Given the description of an element on the screen output the (x, y) to click on. 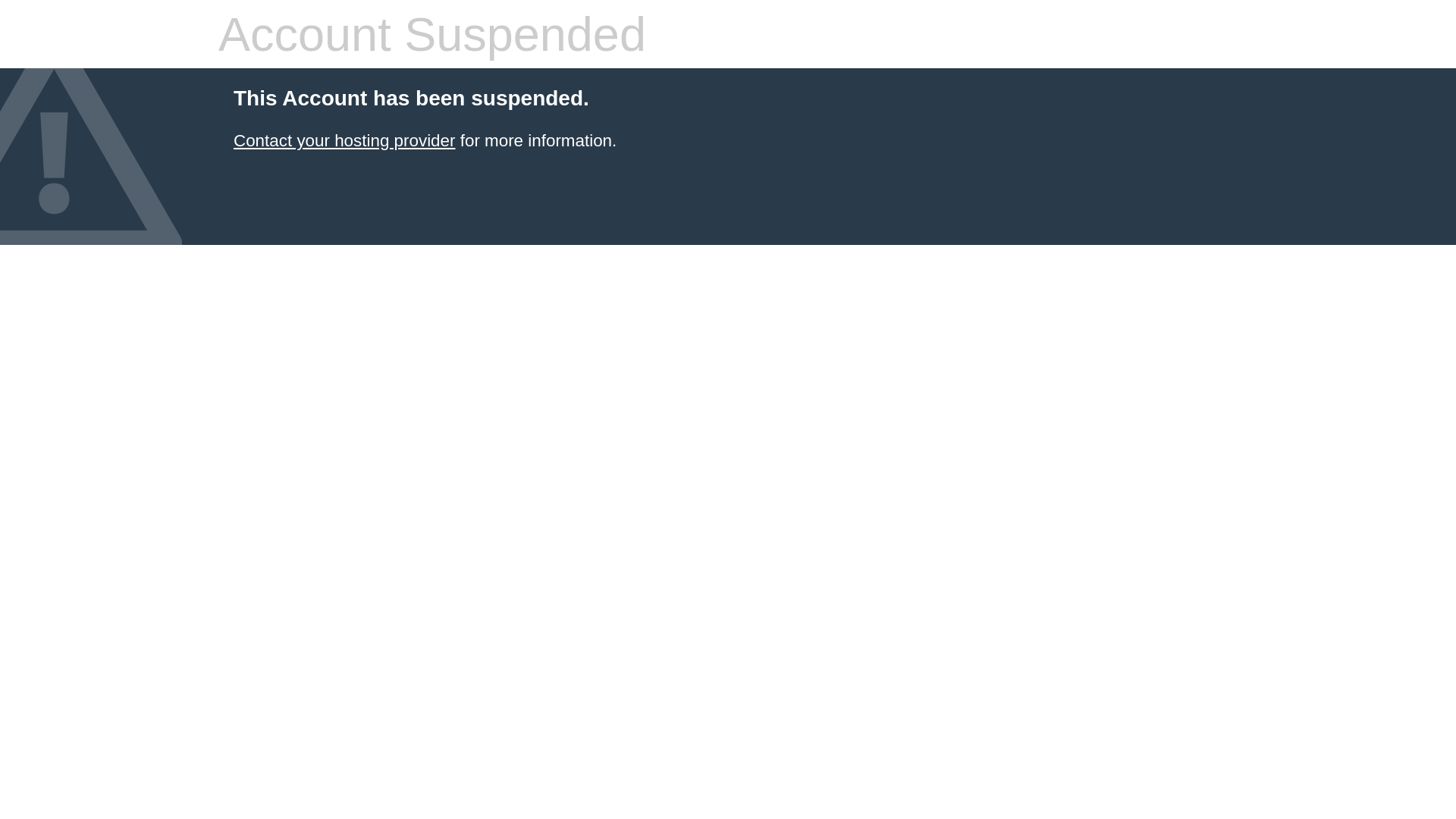
Contact your hosting provider Element type: text (344, 140)
